Given the description of an element on the screen output the (x, y) to click on. 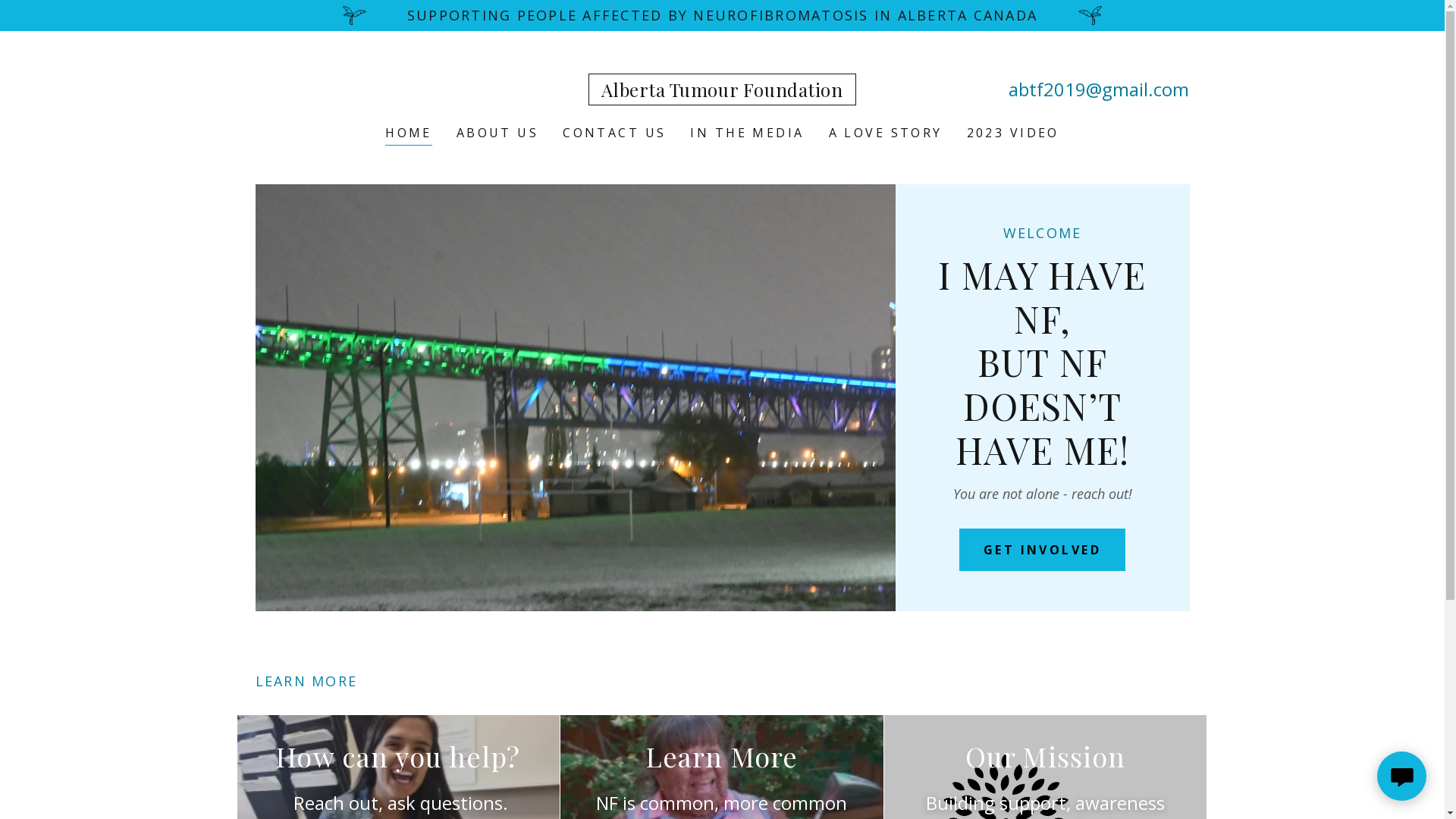
ABOUT US Element type: text (496, 132)
HOME Element type: text (408, 134)
IN THE MEDIA Element type: text (746, 132)
abtf2019@gmail.com Element type: text (1098, 88)
GET INVOLVED Element type: text (1042, 549)
2023 VIDEO Element type: text (1012, 132)
Alberta Tumour Foundation Element type: text (722, 91)
A LOVE STORY Element type: text (885, 132)
CONTACT US Element type: text (614, 132)
